Given the description of an element on the screen output the (x, y) to click on. 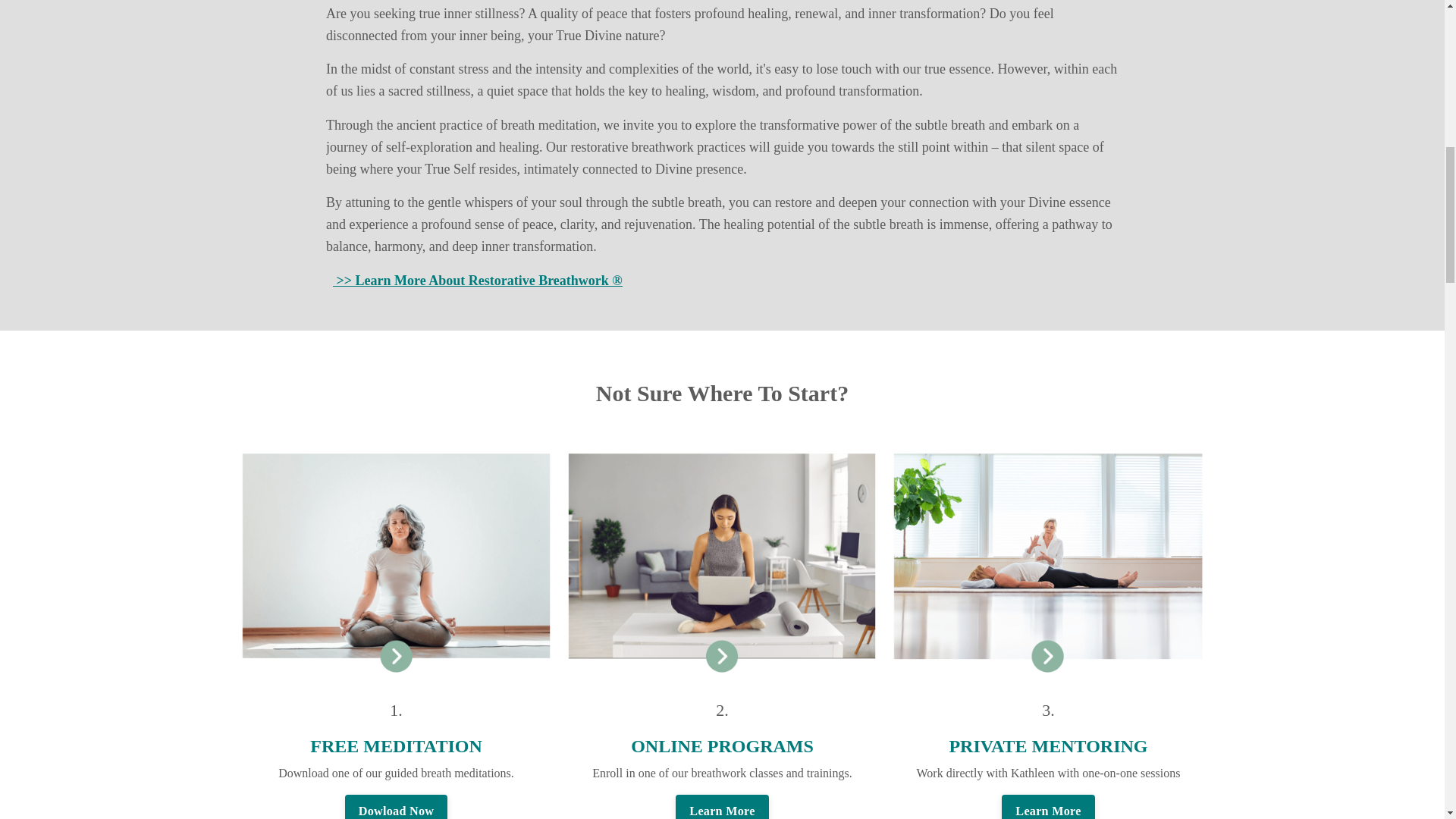
Dowload Now (395, 806)
Learn More (1047, 806)
Learn More (721, 806)
